Given the description of an element on the screen output the (x, y) to click on. 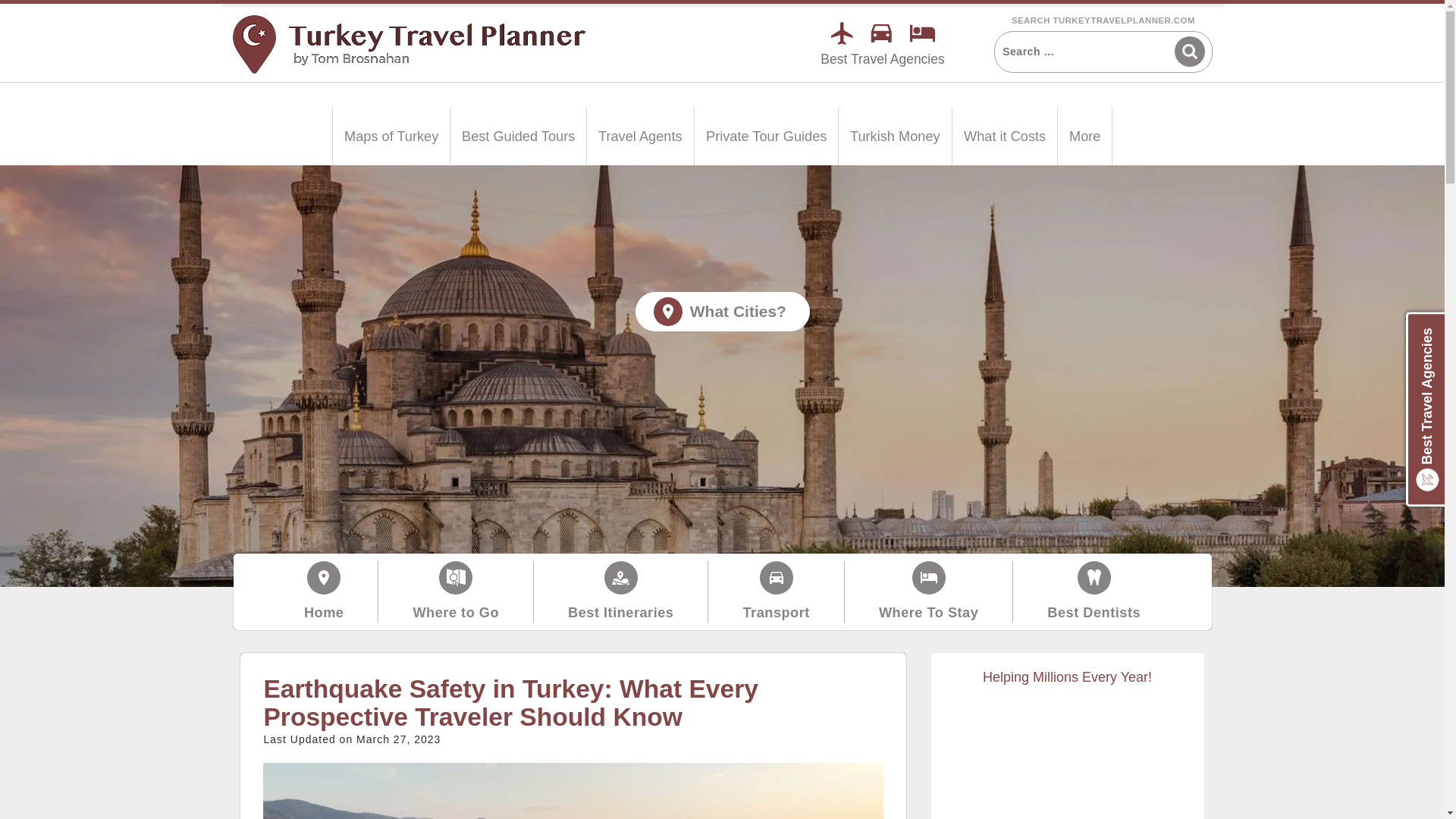
Private Tour Guides (766, 136)
More (1084, 136)
Best Guided Tours (518, 136)
Best Travel Agencies (882, 58)
Maps of Turkey (390, 136)
Search (1188, 51)
Turkey Earthquake 2023 (572, 790)
Search (1188, 51)
Travel Agents (640, 136)
Search (1188, 51)
Turkish Money (895, 136)
 What Cities? (721, 311)
What it Costs (1004, 136)
